Given the description of an element on the screen output the (x, y) to click on. 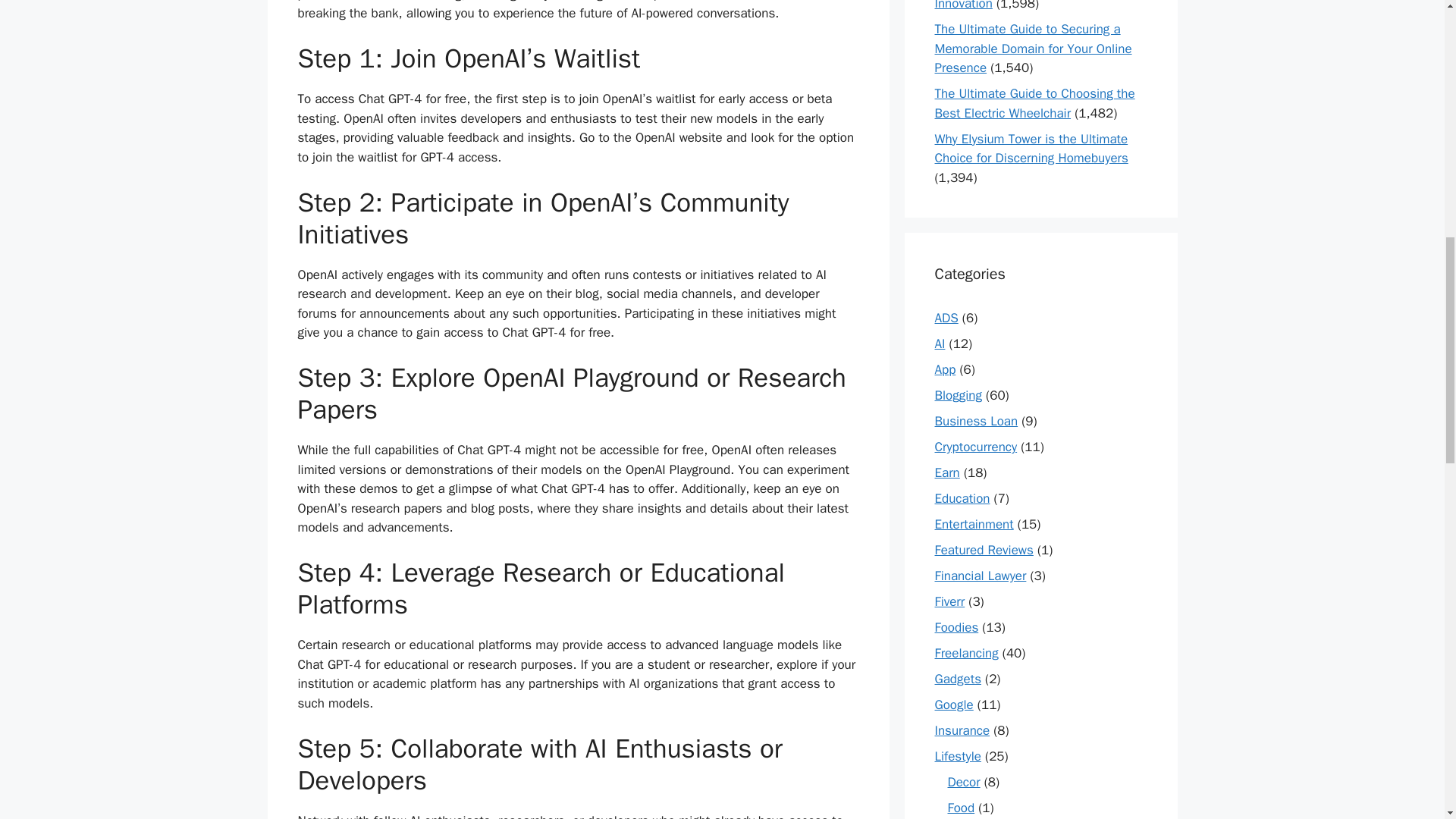
ADS (946, 317)
Featured Reviews (983, 549)
Education (962, 498)
Earn (946, 472)
Cryptocurrency (975, 446)
Financial Lawyer (980, 575)
Fiverr (948, 601)
Blogging (957, 395)
